Given the description of an element on the screen output the (x, y) to click on. 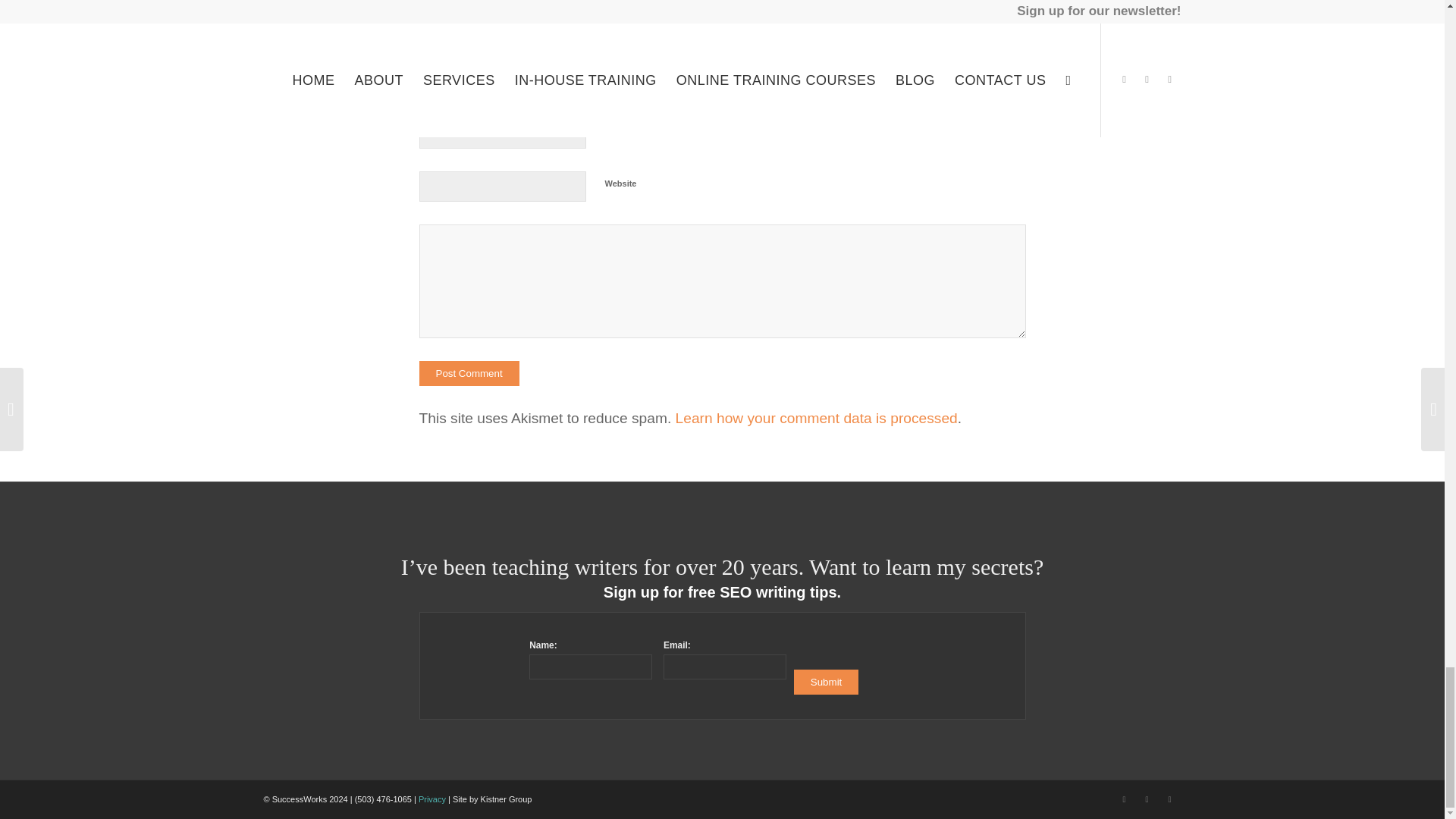
Post Comment (468, 373)
Submit (826, 681)
